Given the description of an element on the screen output the (x, y) to click on. 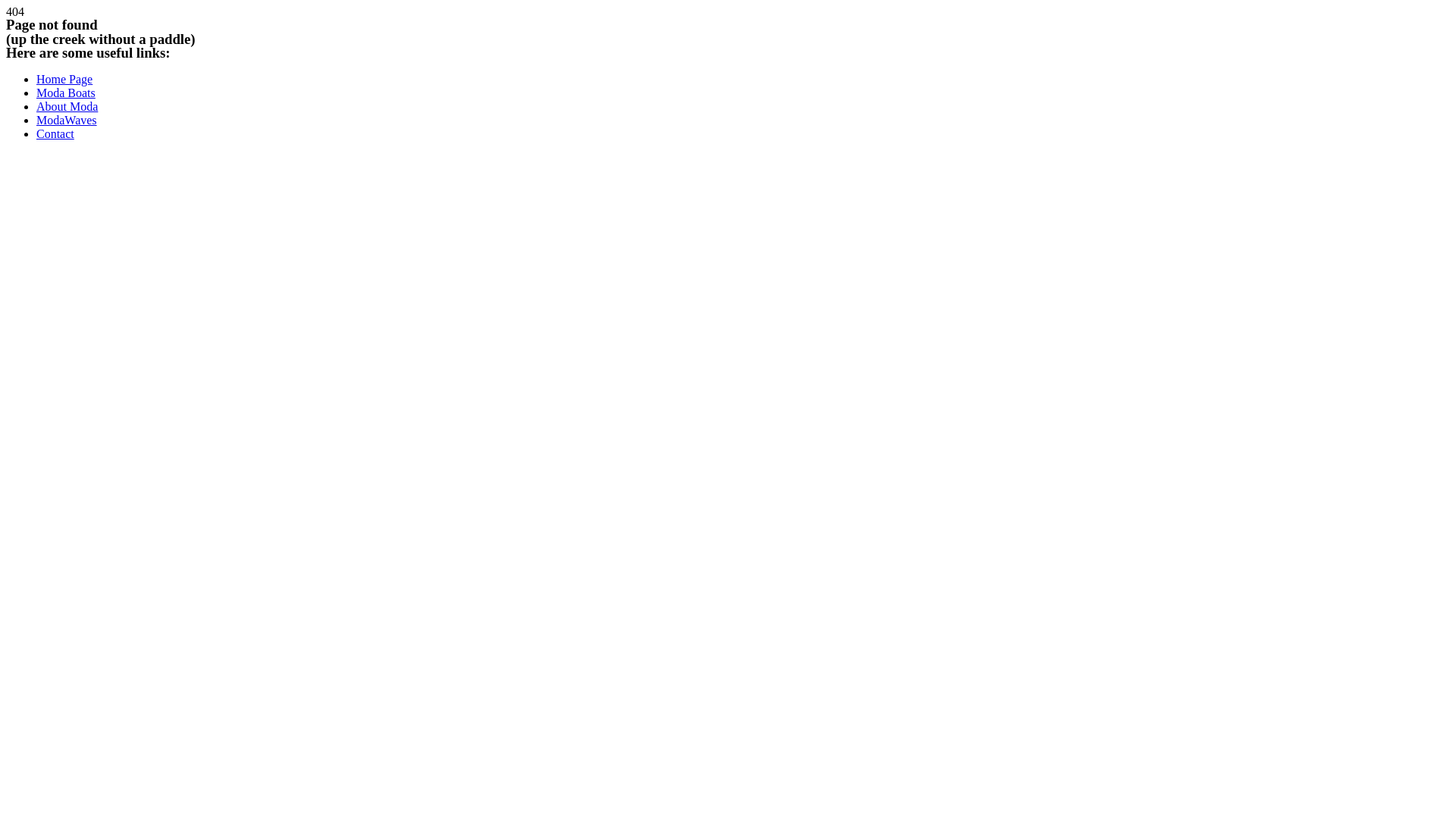
ModaWaves Element type: text (66, 119)
Home Page Element type: text (64, 78)
Moda Boats Element type: text (65, 92)
About Moda Element type: text (66, 106)
Contact Element type: text (55, 133)
